Given the description of an element on the screen output the (x, y) to click on. 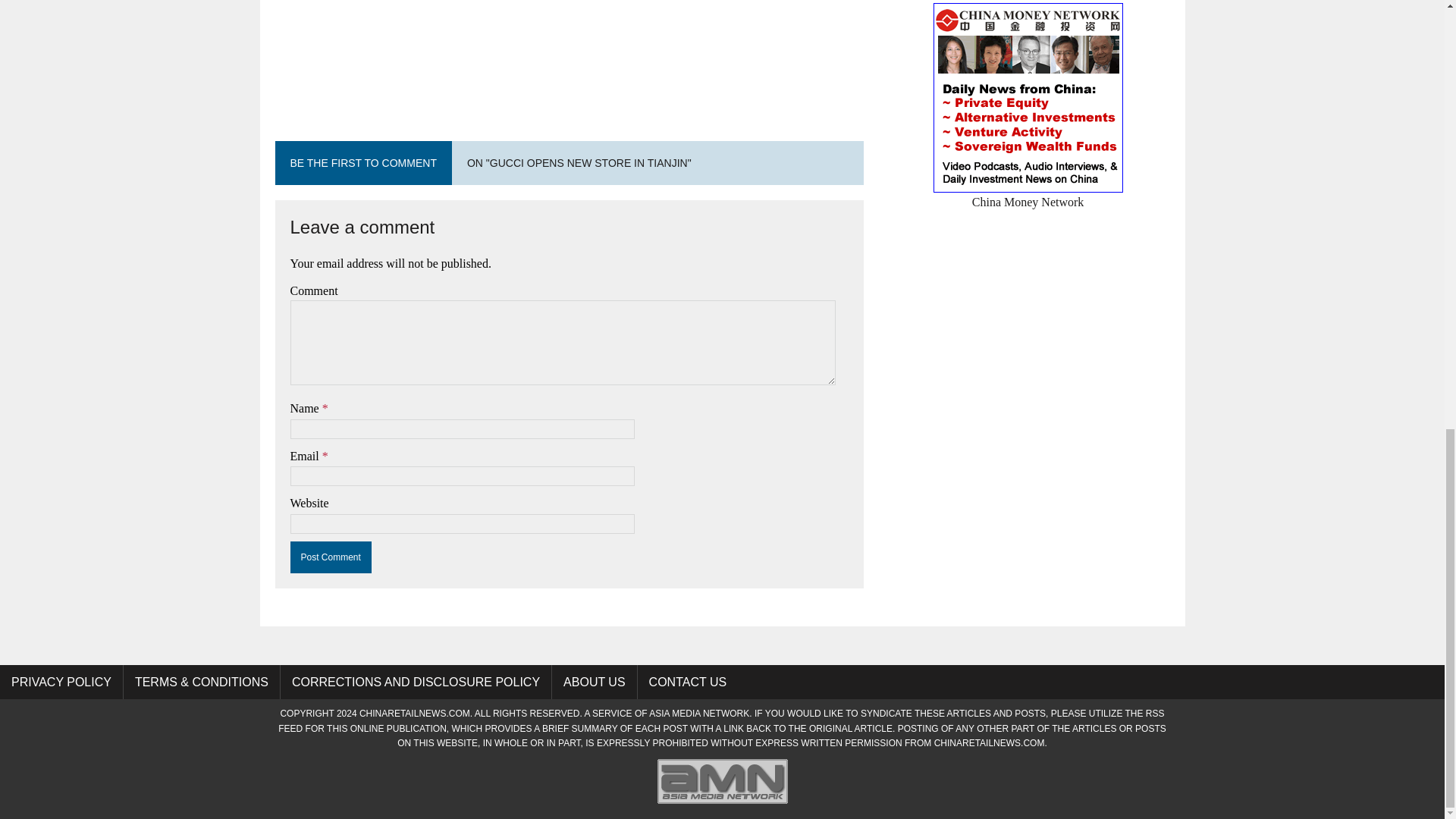
China Money Network (1027, 192)
Advertisement (569, 51)
Asia Media Network (721, 803)
China Money Network - Finance and Investment News Daily (1027, 192)
Post Comment (330, 557)
Post Comment (330, 557)
Asia Media Network (699, 713)
